Given the description of an element on the screen output the (x, y) to click on. 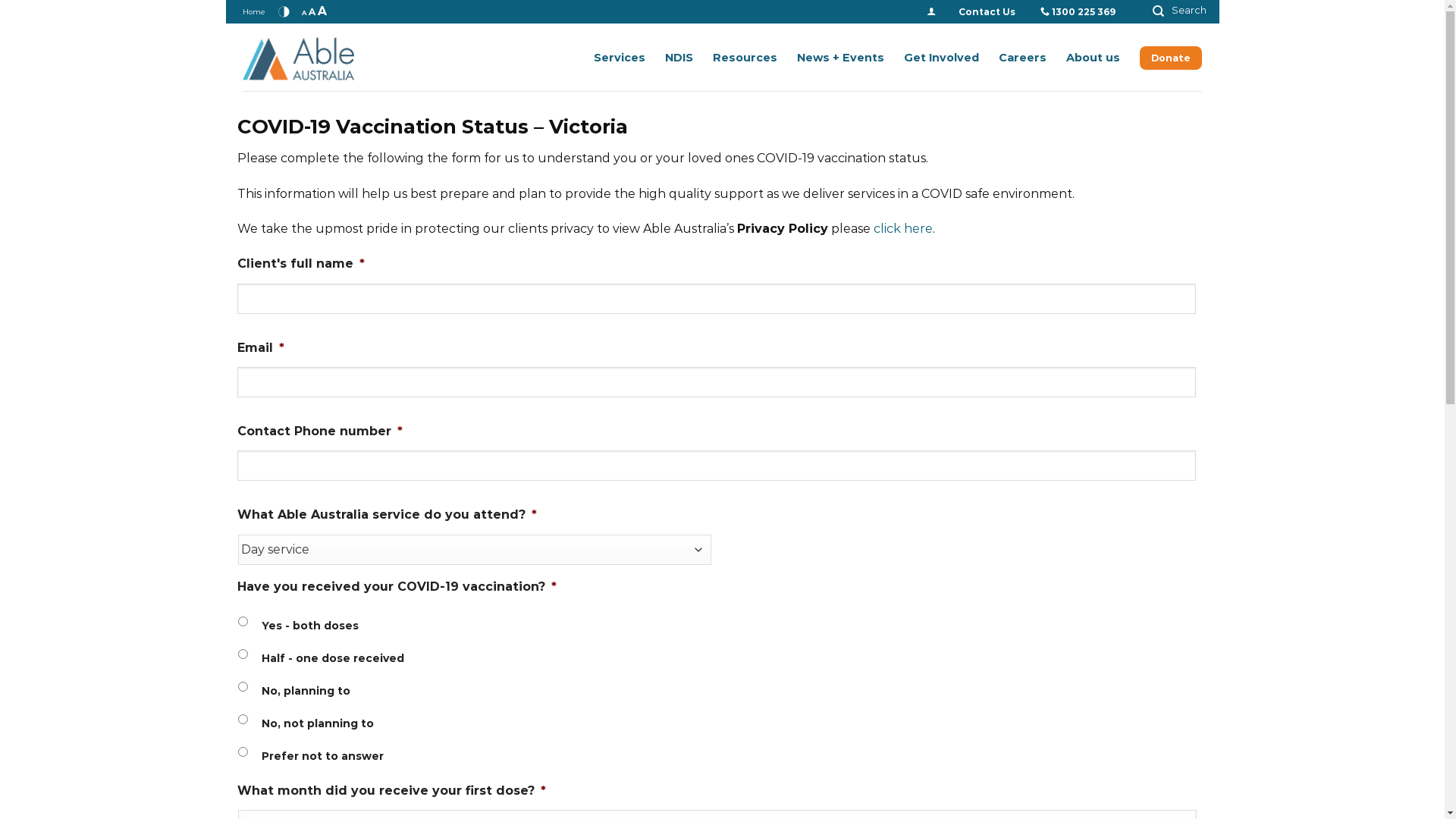
NDIS Element type: text (679, 57)
Donate Element type: text (1170, 57)
A
Reset font size. Element type: text (311, 11)
Get Involved Element type: text (941, 57)
A
Decrease font size. Element type: text (303, 12)
Home Element type: text (253, 11)
Staff Login Element type: hover (930, 11)
Able Australia - Together we are able Element type: hover (318, 57)
Services Element type: text (619, 57)
Skip to content Element type: text (225, 0)
1300 225 369 Element type: text (1083, 11)
Contact Us Element type: text (986, 11)
Resources Element type: text (744, 57)
News + Events Element type: text (840, 57)
click here Element type: text (902, 228)
About us Element type: text (1093, 57)
Careers Element type: text (1022, 57)
A
Increase font size. Element type: text (321, 10)
